Given the description of an element on the screen output the (x, y) to click on. 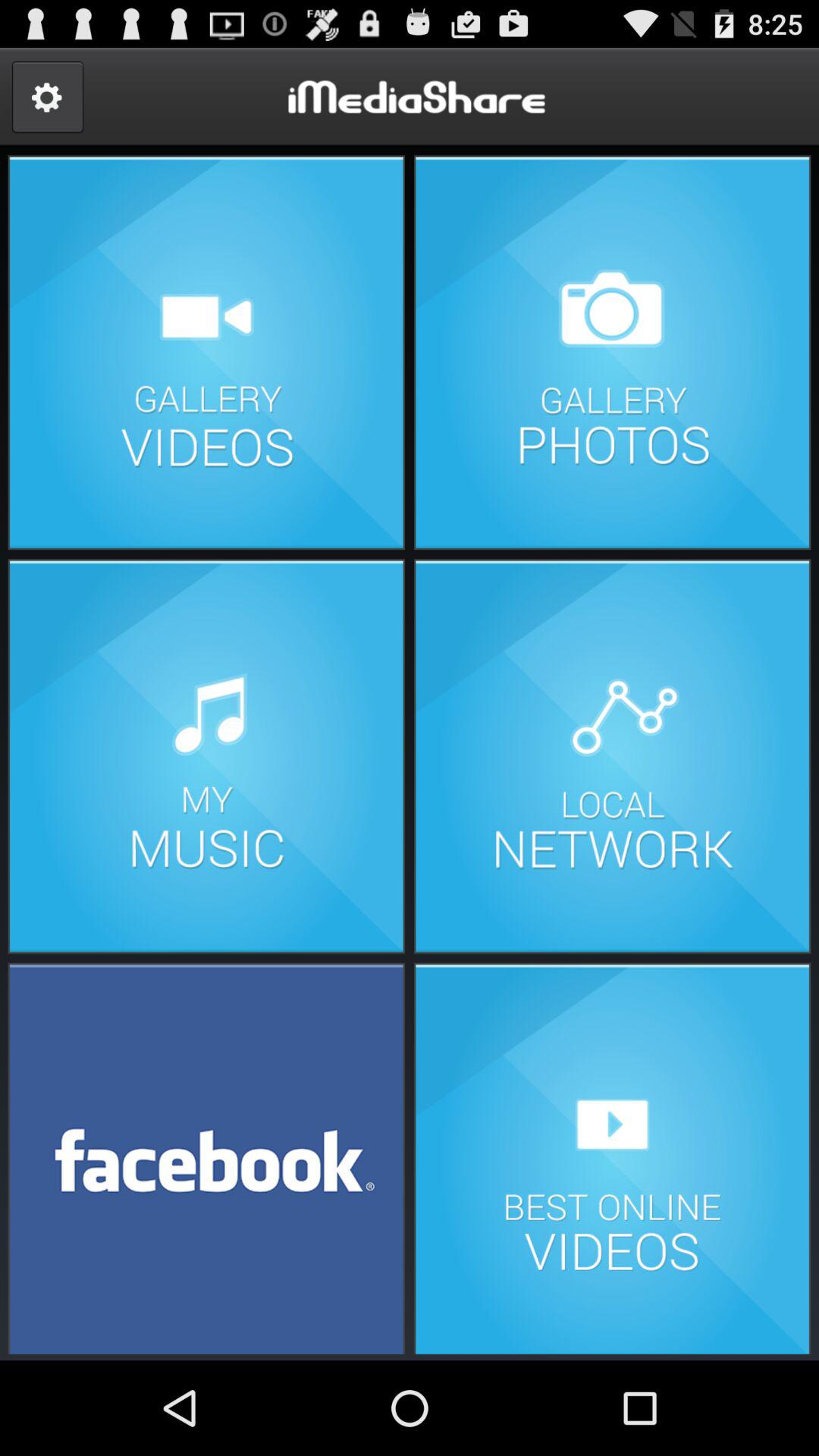
open local network (612, 756)
